Given the description of an element on the screen output the (x, y) to click on. 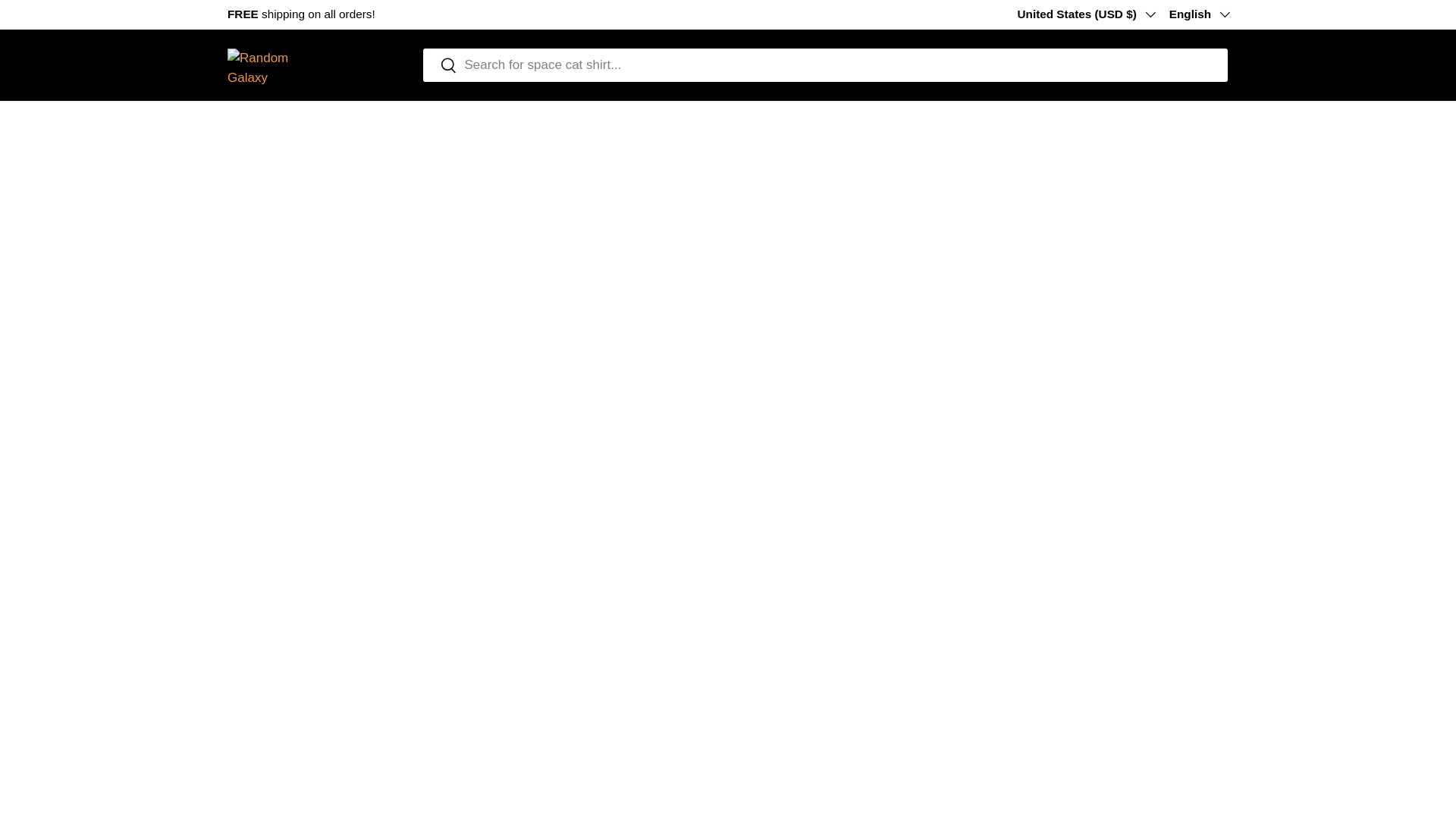
Skip to content (64, 21)
English (1198, 14)
Search (440, 66)
